Given the description of an element on the screen output the (x, y) to click on. 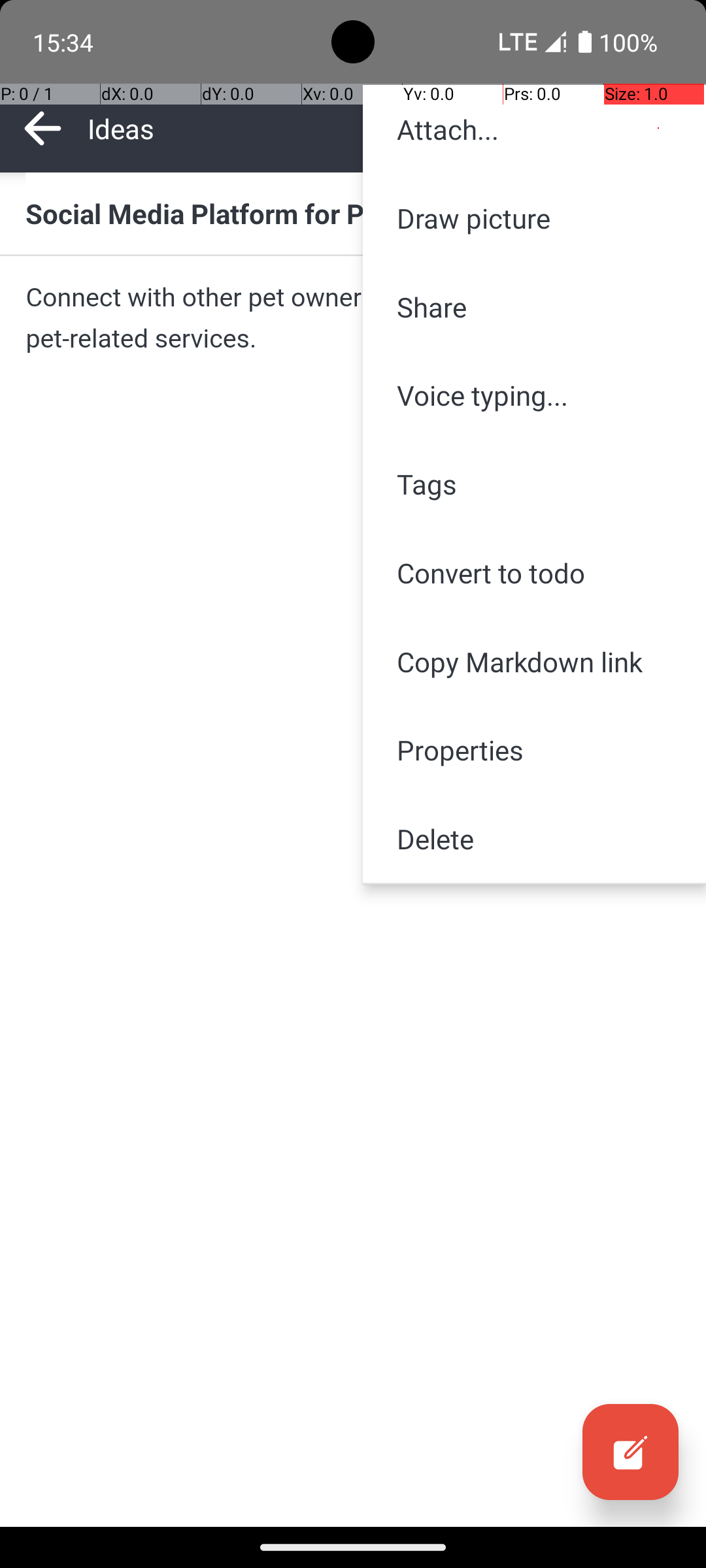
Social Media Platform for Pet Owners Element type: android.widget.EditText (352, 213)
Attach... Element type: android.widget.TextView (534, 129)
Draw picture Element type: android.widget.TextView (534, 217)
Voice typing... Element type: android.widget.TextView (534, 395)
Convert to todo Element type: android.widget.TextView (534, 572)
Copy Markdown link Element type: android.widget.TextView (534, 661)
Properties Element type: android.widget.TextView (534, 749)
Connect with other pet owners, share photos, and find pet-related services. Element type: android.widget.TextView (352, 317)
